Given the description of an element on the screen output the (x, y) to click on. 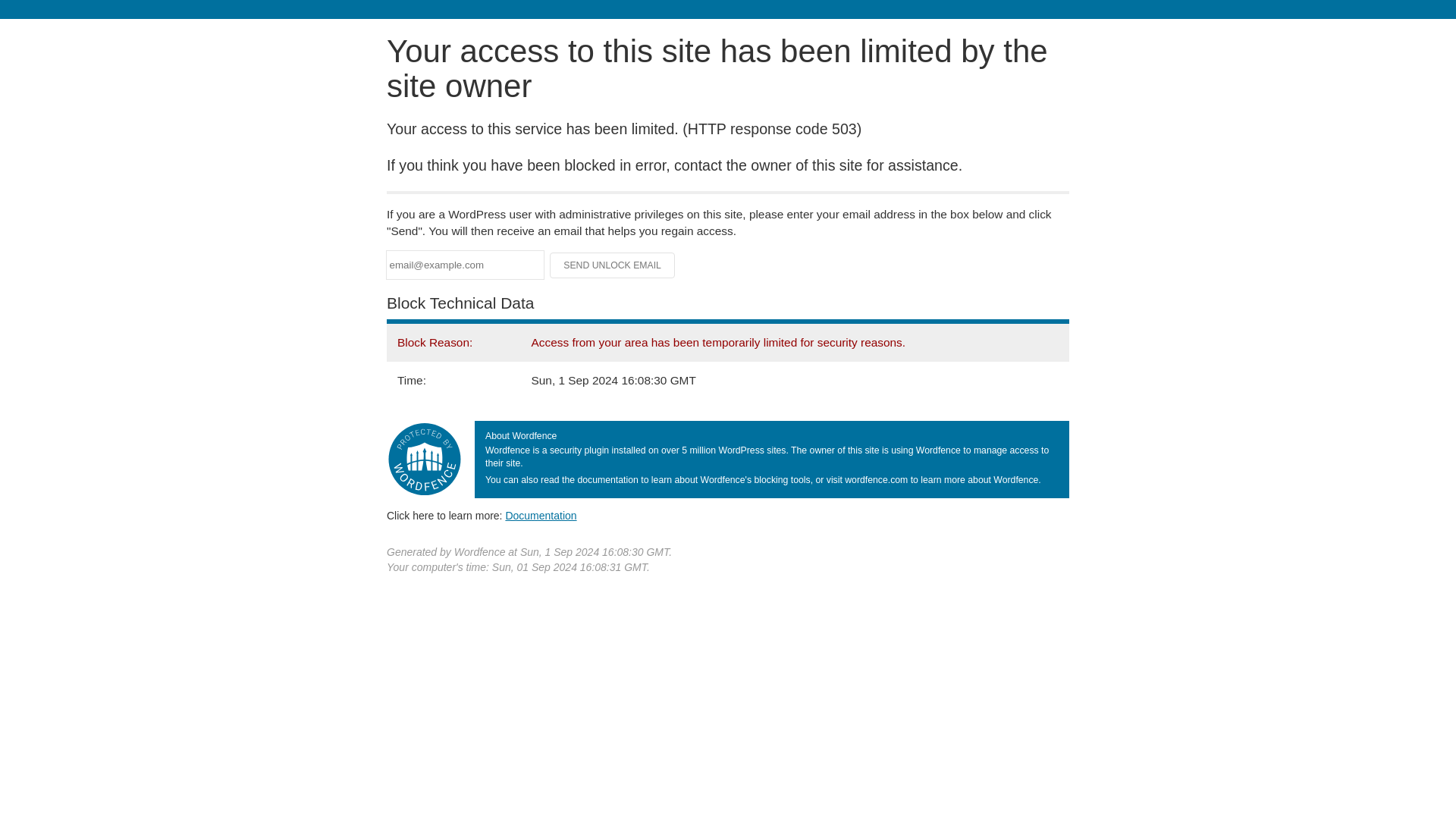
Documentation (540, 515)
Send Unlock Email (612, 265)
Send Unlock Email (612, 265)
